Given the description of an element on the screen output the (x, y) to click on. 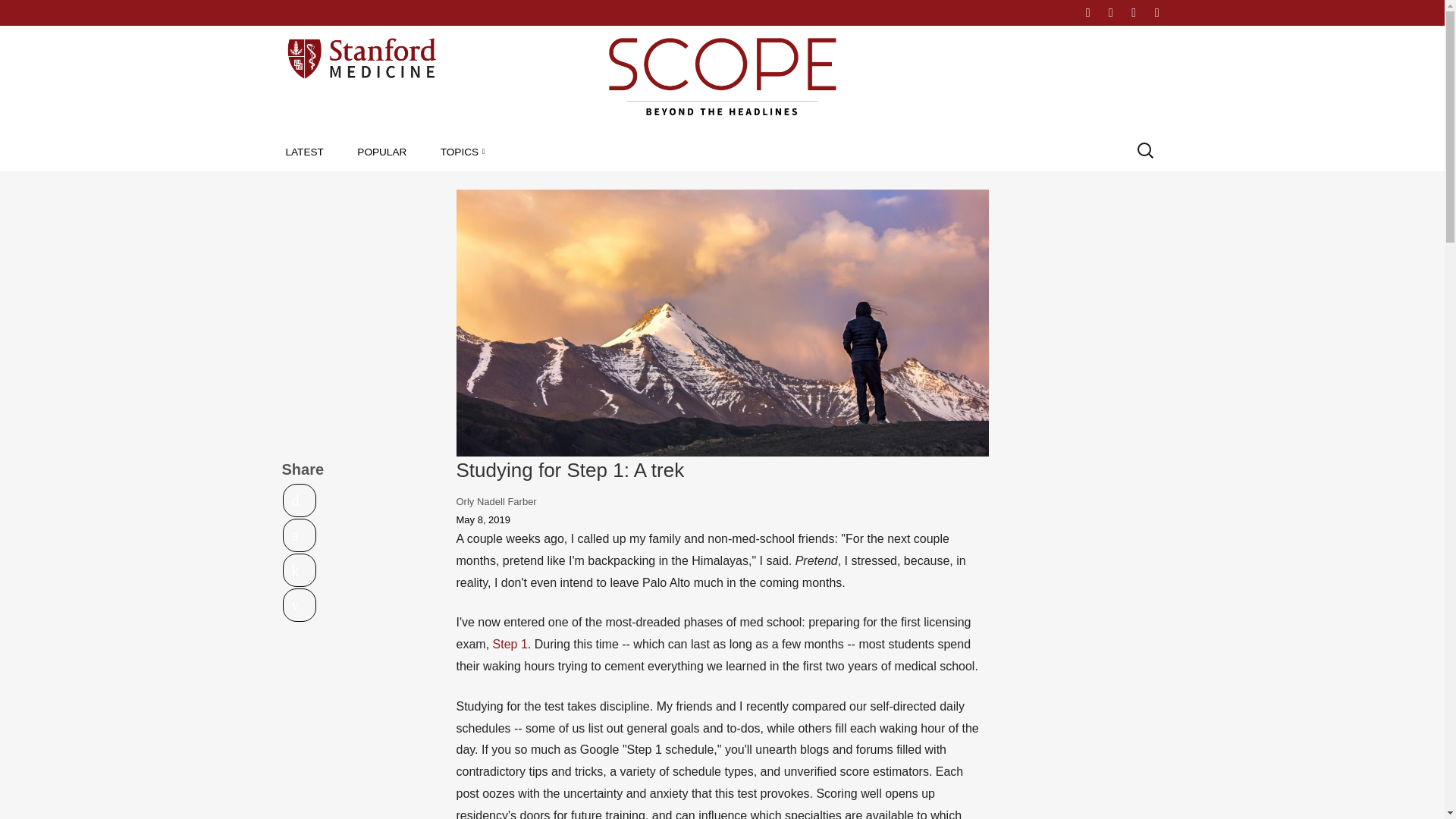
Opens in a new window (299, 570)
Share on Facebook (299, 534)
Share on LinkedIn (299, 570)
TOPICS (462, 152)
Share on Twitter (299, 500)
MEDICAL RESEARCH (527, 186)
ABOUT (1043, 12)
Share on Email (299, 605)
Step 1 (510, 644)
Search (26, 12)
POPULAR (381, 152)
Orly Nadell Farber (497, 501)
LATEST (304, 152)
Opens in a new window (299, 500)
Opens in a new window (299, 534)
